Given the description of an element on the screen output the (x, y) to click on. 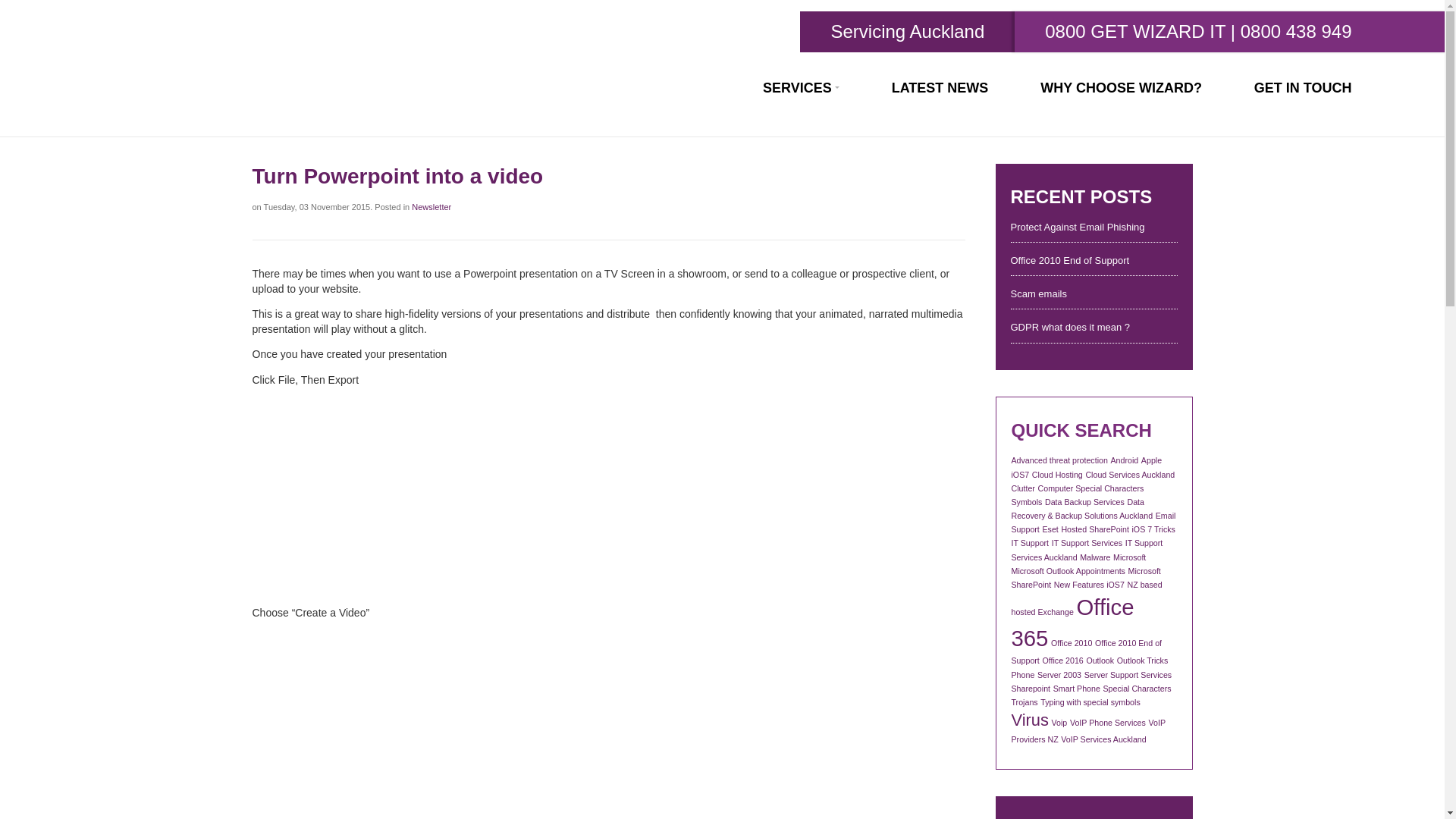
Newsletter (431, 206)
SERVICES (801, 88)
LATEST NEWS (939, 88)
Clutter (1023, 488)
Cloud Hosting (1057, 474)
Advanced threat protection (1059, 460)
Office 2010 End of Support (1093, 260)
iOS 7 Tricks (1152, 528)
Eset (1050, 528)
IT Support (1030, 542)
